Given the description of an element on the screen output the (x, y) to click on. 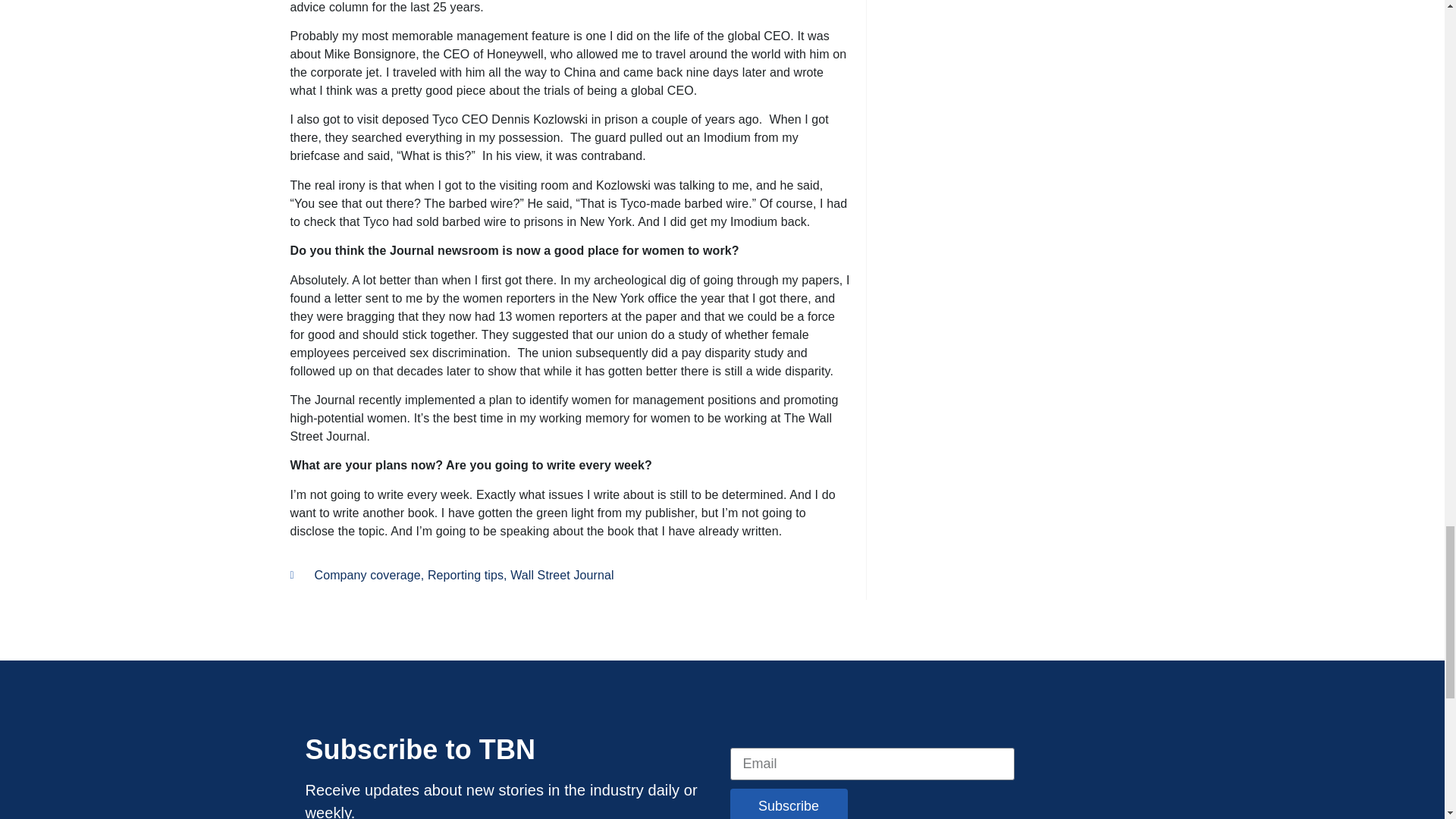
Company coverage (367, 574)
Wall Street Journal (561, 574)
Reporting tips (465, 574)
